Given the description of an element on the screen output the (x, y) to click on. 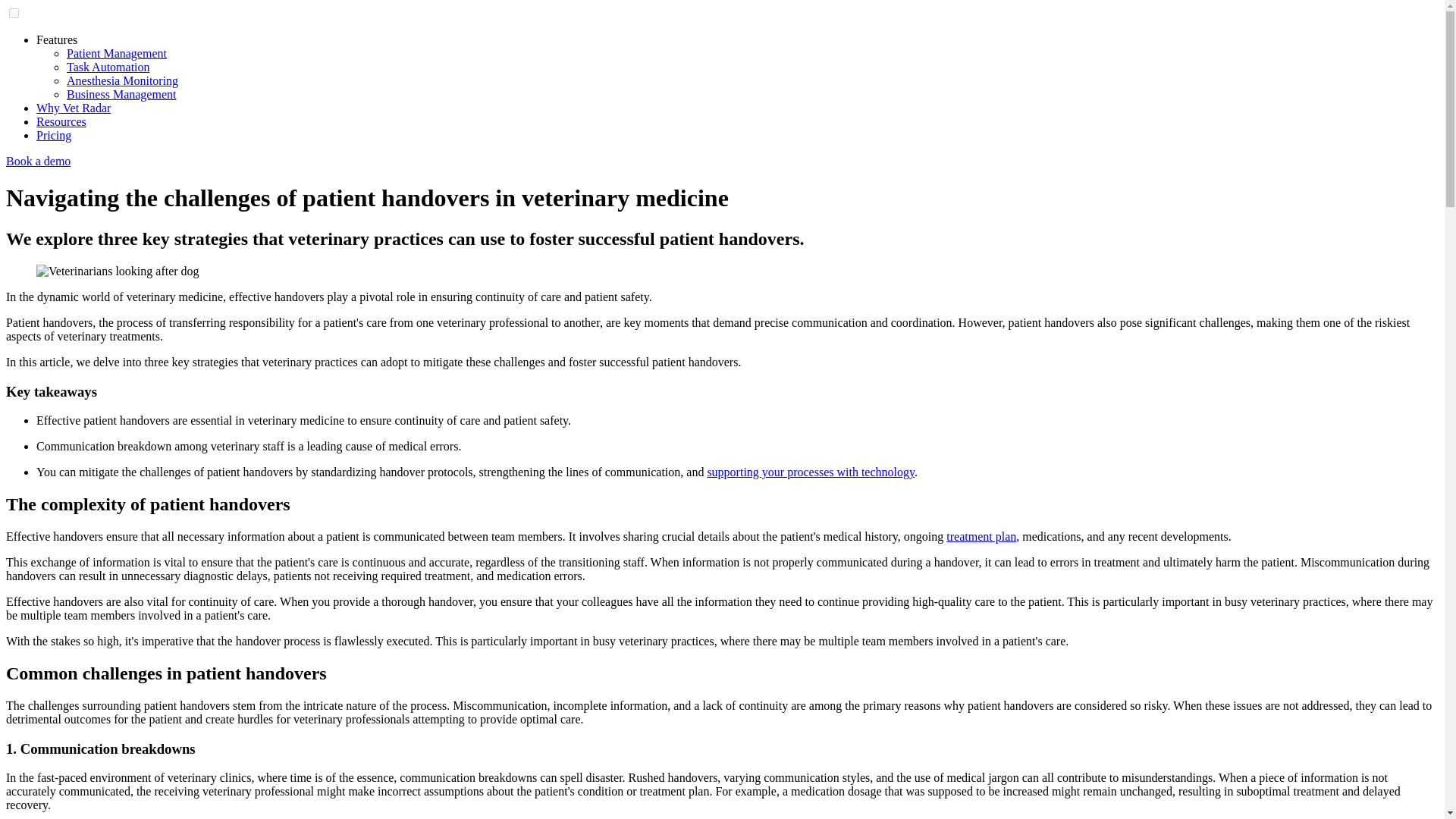
Anesthesia Monitoring (121, 80)
Book a demo (37, 160)
Business Management (121, 93)
Pricing (53, 134)
on (13, 13)
Task Automation (107, 66)
treatment plan (981, 535)
supporting your processes with technology (810, 472)
Resources (60, 121)
Why Vet Radar (73, 107)
